Given the description of an element on the screen output the (x, y) to click on. 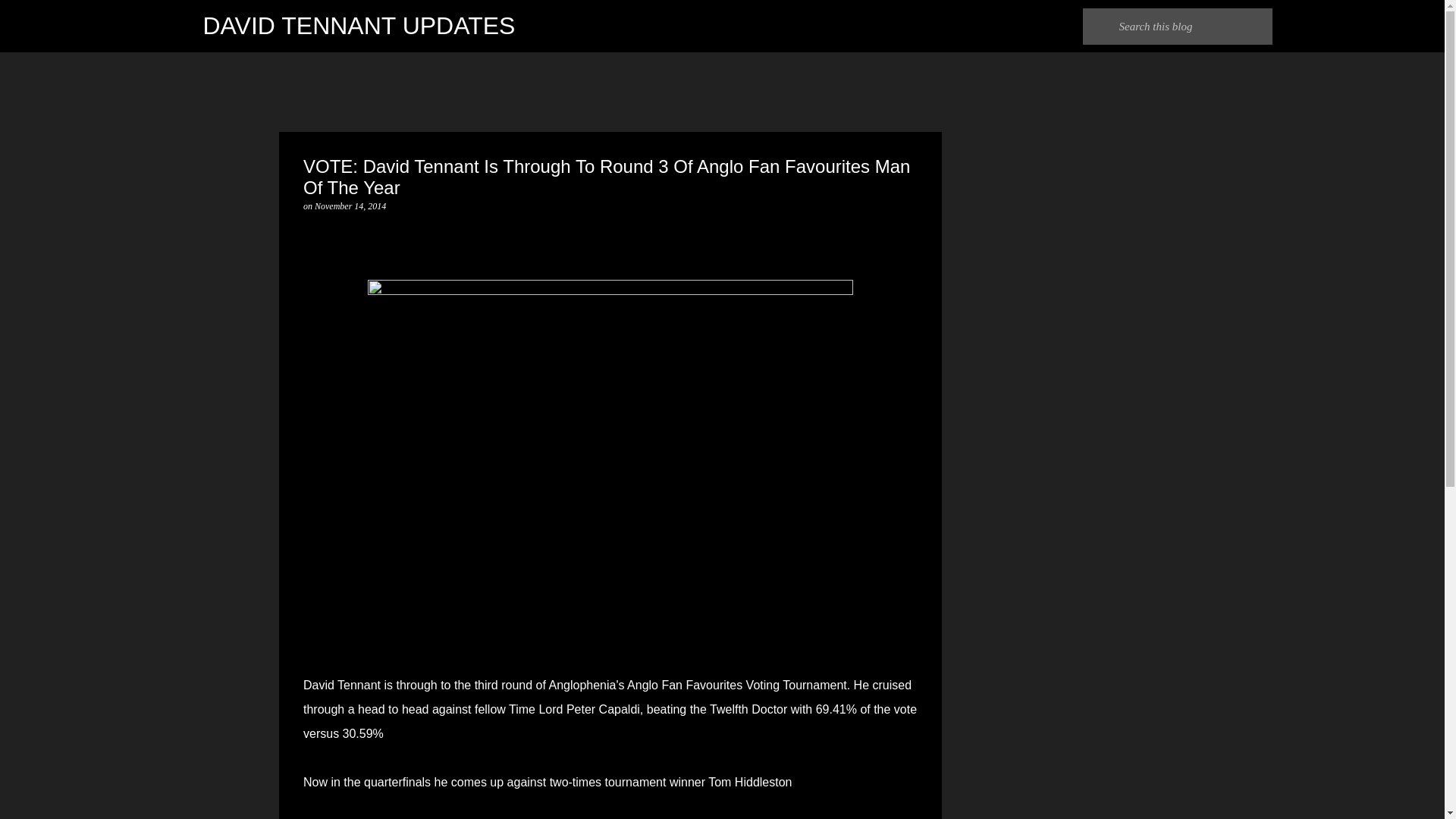
DAVID TENNANT UPDATES (359, 25)
permanent link (349, 205)
November 14, 2014 (349, 205)
